Given the description of an element on the screen output the (x, y) to click on. 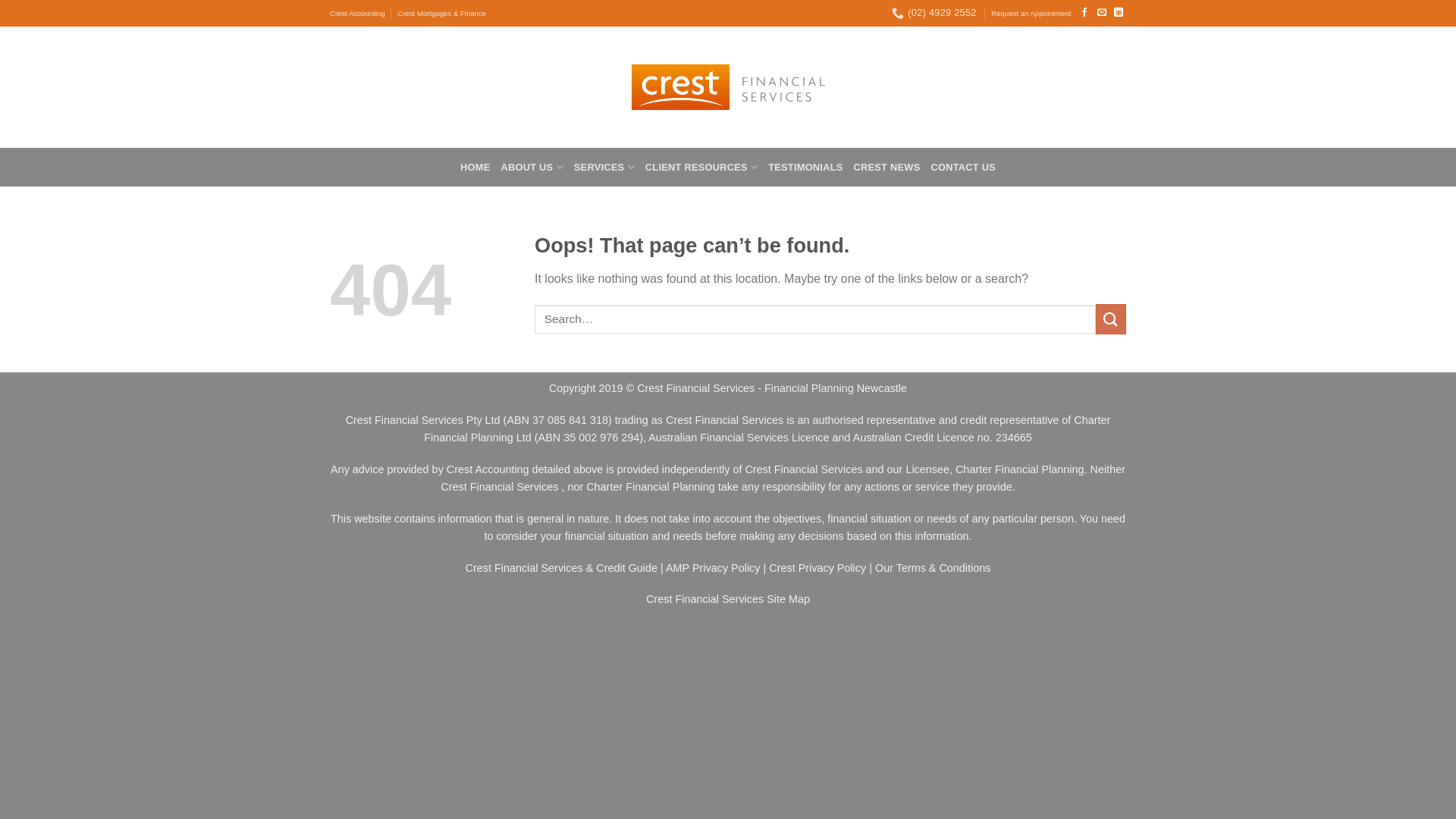
Crest Privacy Policy Element type: text (817, 567)
Crest Accounting Element type: text (357, 12)
Crest Financial Services & Credit Guide Element type: text (561, 567)
(02) 4929 2552 Element type: text (933, 12)
Our Terms & Conditions Element type: text (933, 567)
TESTIMONIALS Element type: text (805, 166)
CONTACT US Element type: text (962, 166)
Crest Financial Services Site Map Element type: text (727, 599)
ABOUT US Element type: text (531, 166)
Request an Appointment Element type: text (1030, 12)
CLIENT RESOURCES Element type: text (701, 166)
SERVICES Element type: text (604, 166)
HOME Element type: text (474, 166)
Crest Mortgages & Finance Element type: text (441, 12)
CREST NEWS Element type: text (886, 166)
AMP Privacy Policy Element type: text (712, 567)
